Given the description of an element on the screen output the (x, y) to click on. 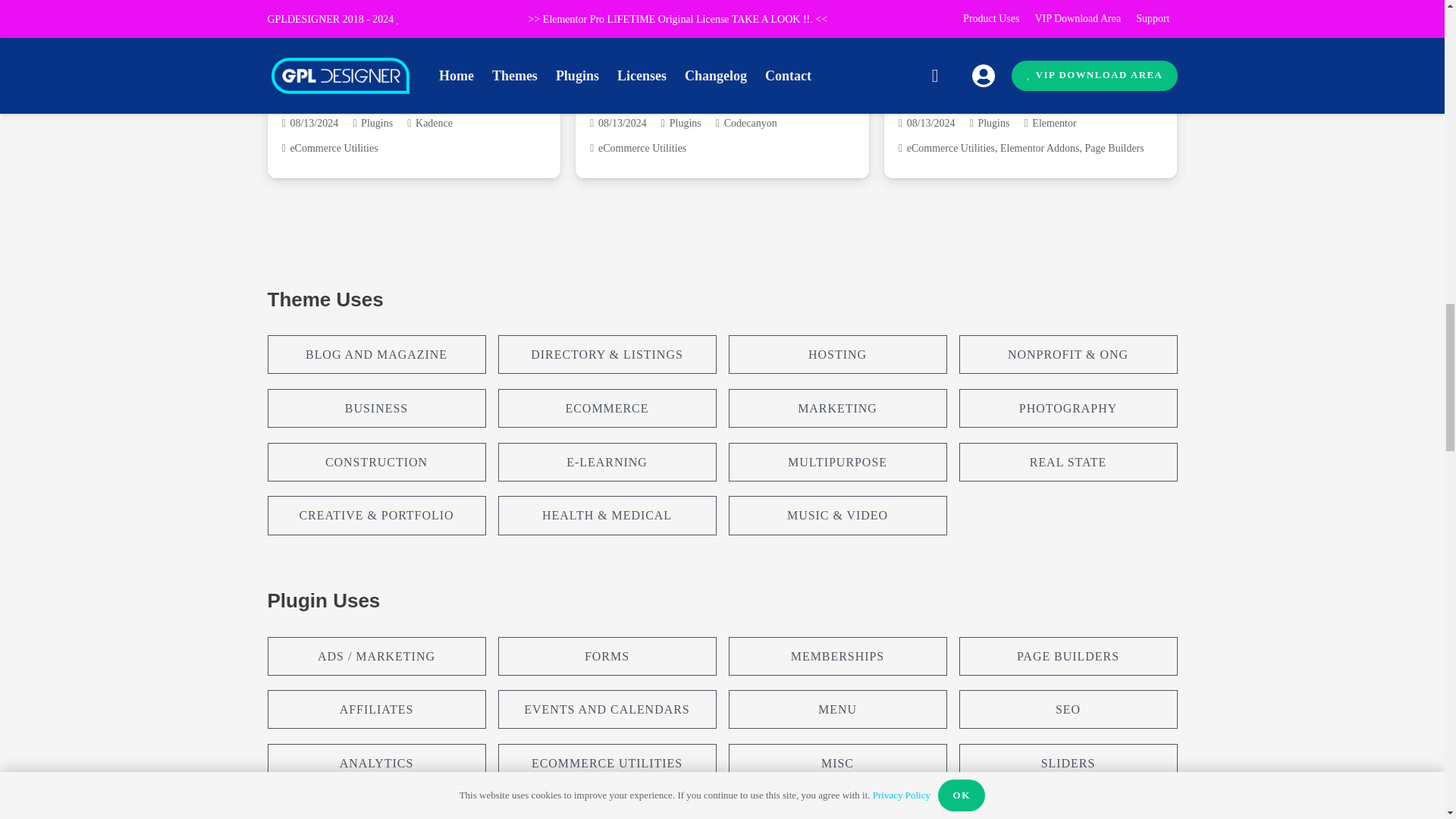
Kadence (433, 122)
Plugins (377, 122)
Plugins (685, 122)
Kadence WooCommerce Extras Plugin 2.2.0 (390, 88)
eCommerce Utilities (641, 147)
Codecanyon (750, 122)
eCommerce Utilities (333, 147)
WooCommerce Advanced Bulk Edit 5.4.3.2 (711, 88)
